Given the description of an element on the screen output the (x, y) to click on. 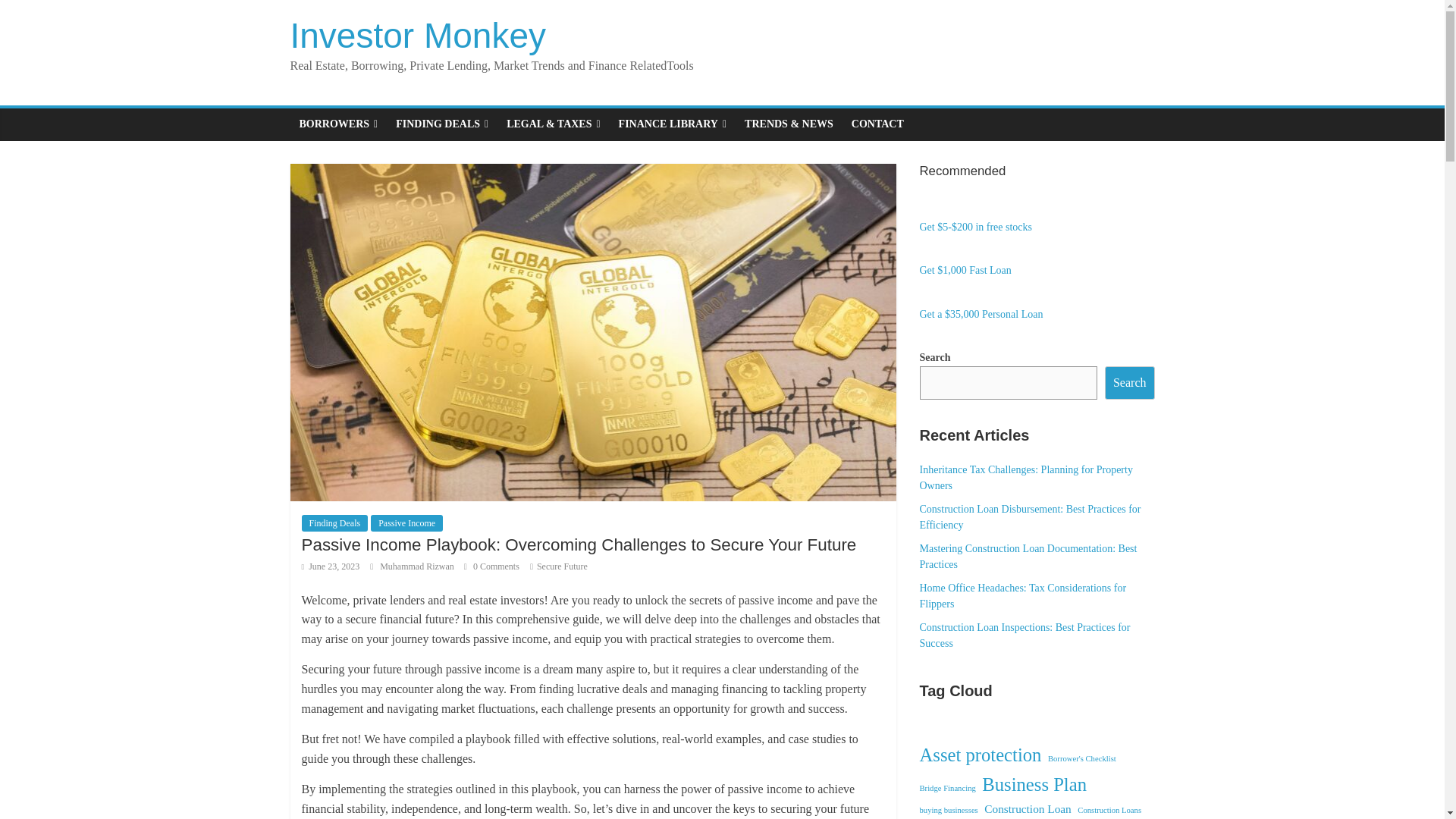
Muhammad Rizwan (418, 566)
Investor Monkey (416, 35)
FINANCE LIBRARY (672, 124)
BORROWERS (338, 124)
Investor Monkey (416, 35)
8:00 pm (330, 566)
FINDING DEALS (442, 124)
